Given the description of an element on the screen output the (x, y) to click on. 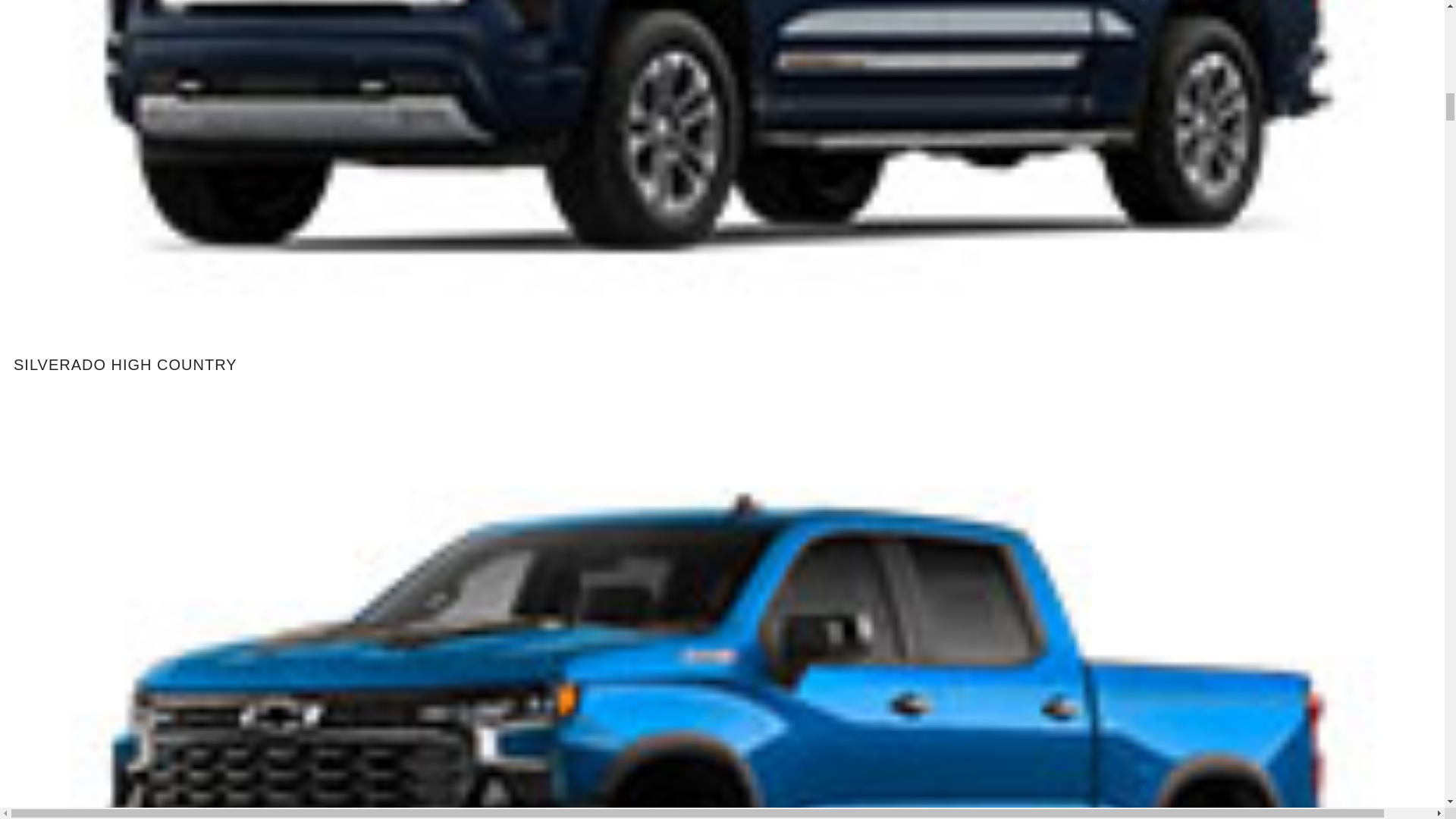
2024 TRAVERSE (155, 793)
2024 TRAX (155, 380)
2024 SUBURBAN (155, 532)
2024 TRAILBLAZER (155, 228)
2024 TAHOE (155, 685)
2024 EQUINOX EV (155, 76)
